Given the description of an element on the screen output the (x, y) to click on. 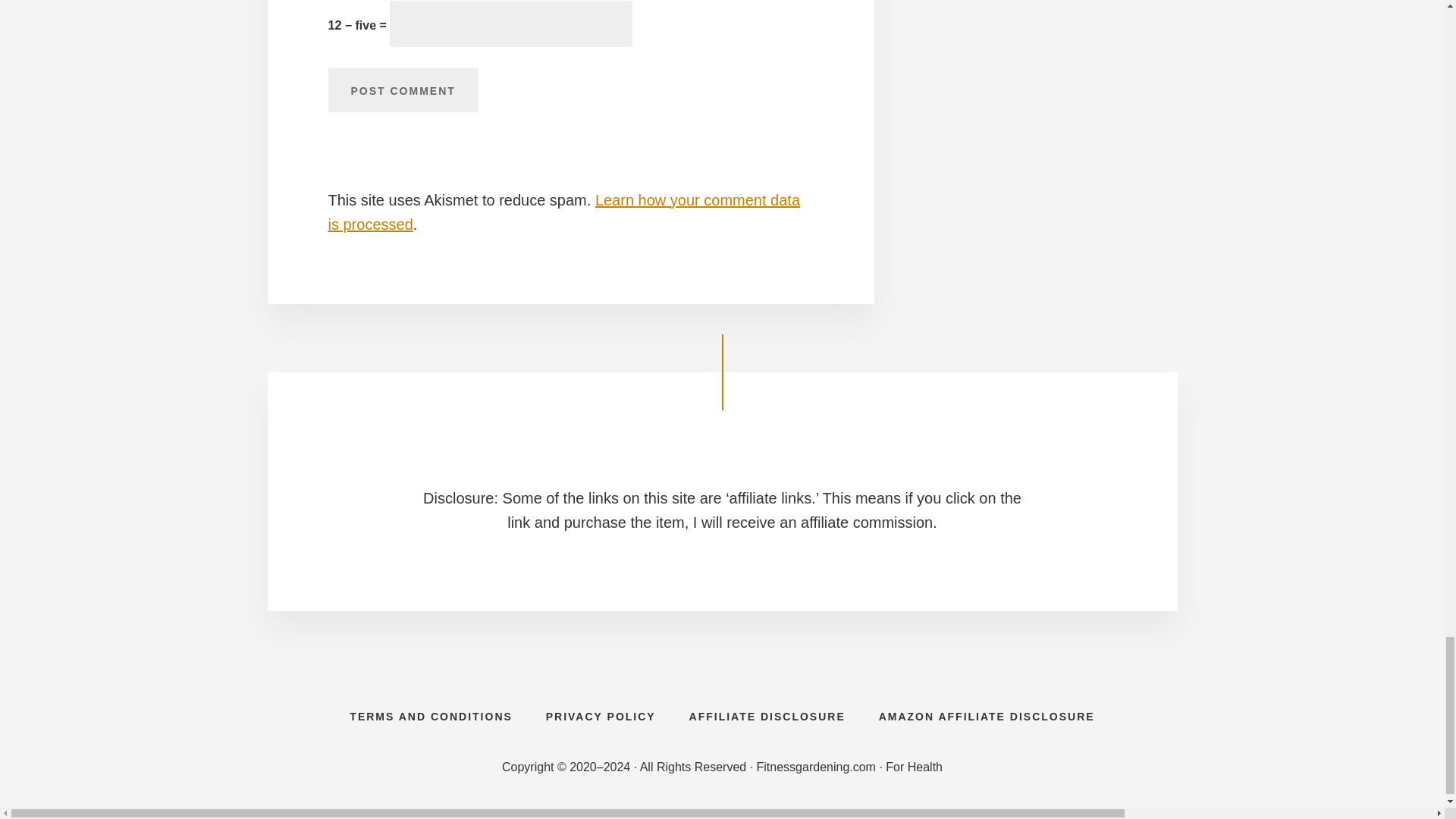
TERMS AND CONDITIONS (430, 716)
PRIVACY POLICY (601, 716)
AMAZON AFFILIATE DISCLOSURE (986, 716)
Post Comment (402, 89)
AFFILIATE DISCLOSURE (767, 716)
Learn how your comment data is processed (563, 212)
Post Comment (402, 89)
